Given the description of an element on the screen output the (x, y) to click on. 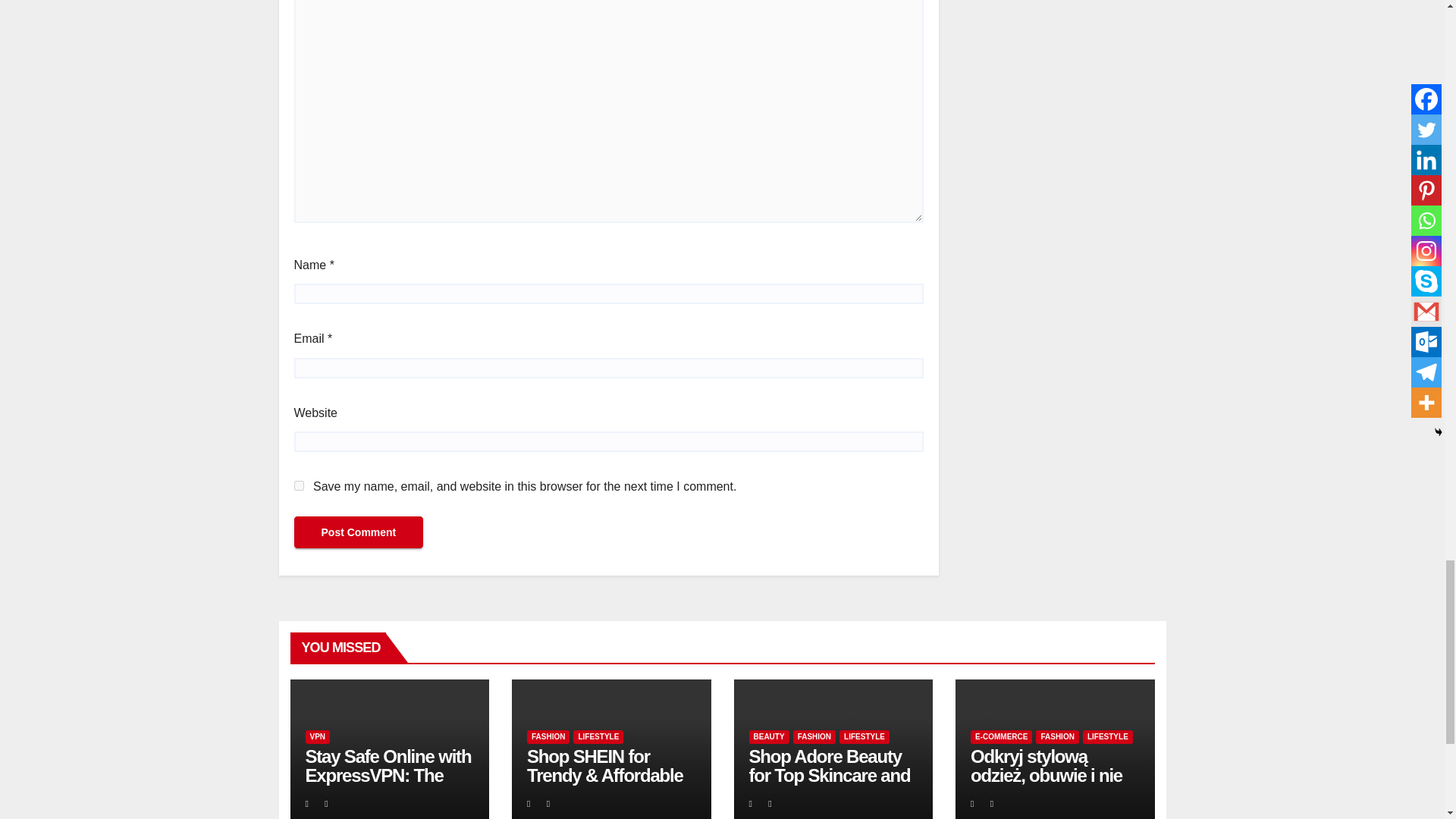
yes (299, 485)
Post Comment (358, 531)
